Given the description of an element on the screen output the (x, y) to click on. 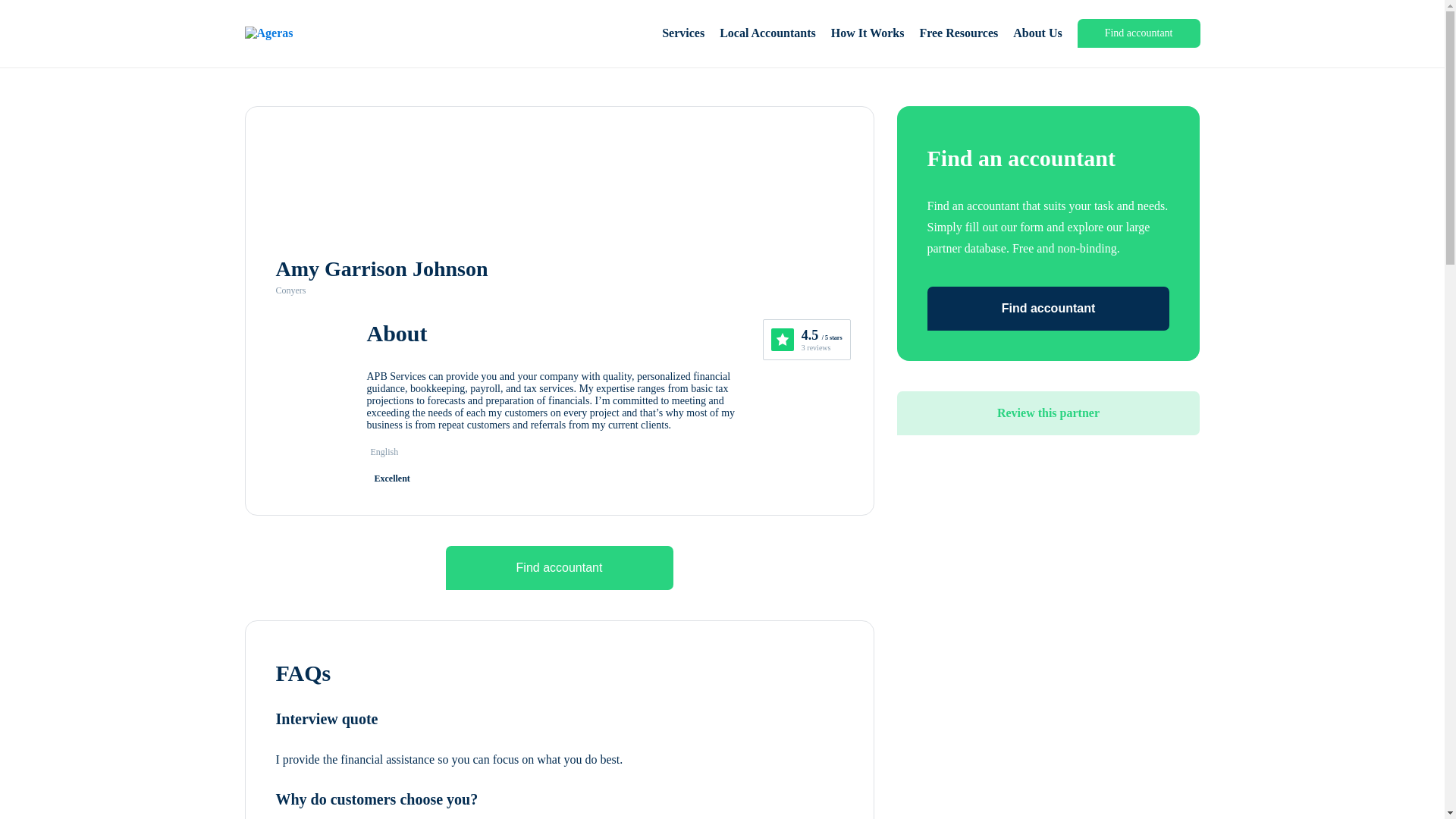
Local Accountants (767, 33)
Services (683, 33)
How It Works (867, 33)
Free Resources (957, 33)
About Us (1037, 33)
